Given the description of an element on the screen output the (x, y) to click on. 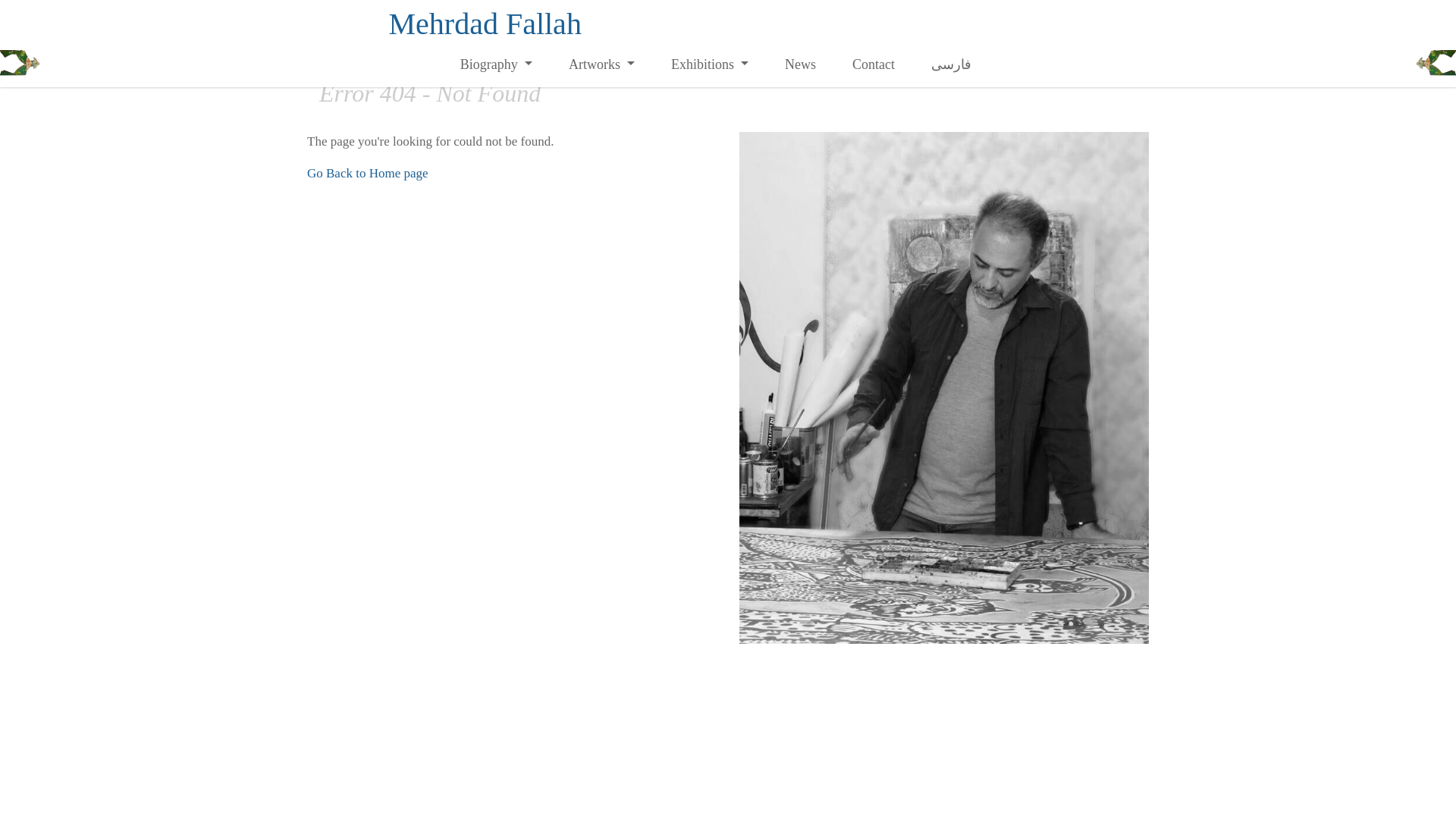
Mehrdad Fallah (484, 23)
Mehrdad Fallah Contemprary Artist (484, 23)
Exhibitions (709, 64)
News (800, 64)
Biography (496, 64)
Artworks (601, 64)
Contact (873, 64)
Go Back to Home page (367, 173)
